Given the description of an element on the screen output the (x, y) to click on. 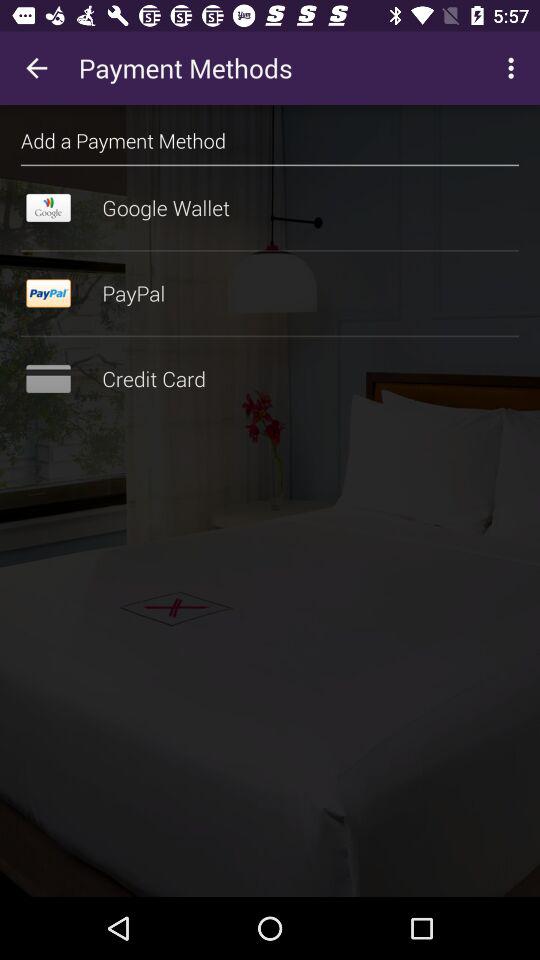
select the icon at the top right corner (513, 67)
